Given the description of an element on the screen output the (x, y) to click on. 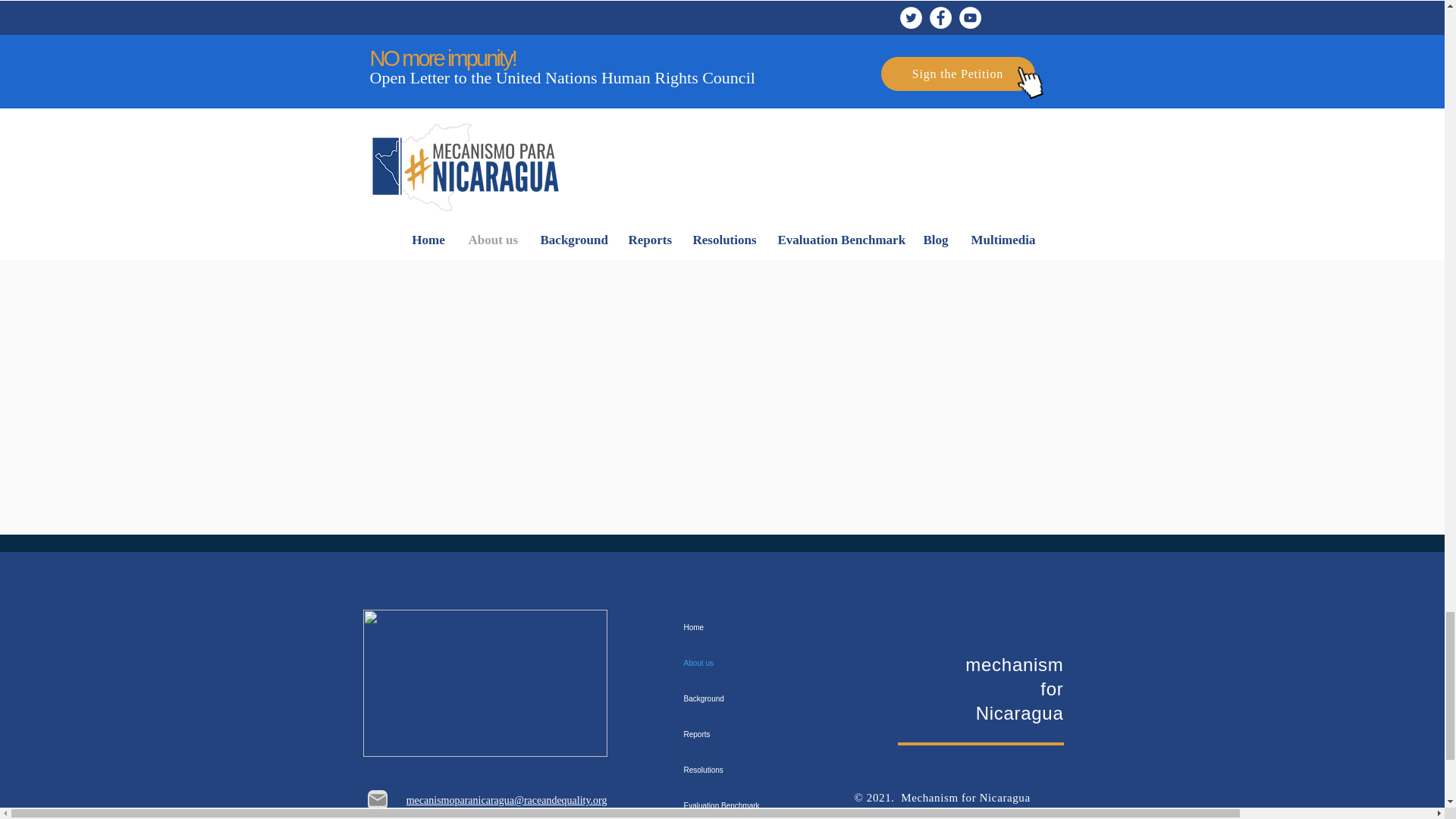
Background (748, 698)
Home (748, 627)
Resolutions (748, 769)
Evaluation Benchmark (748, 803)
Reports (748, 734)
Design by: Celcanto Producciones (914, 811)
About us (748, 662)
